Given the description of an element on the screen output the (x, y) to click on. 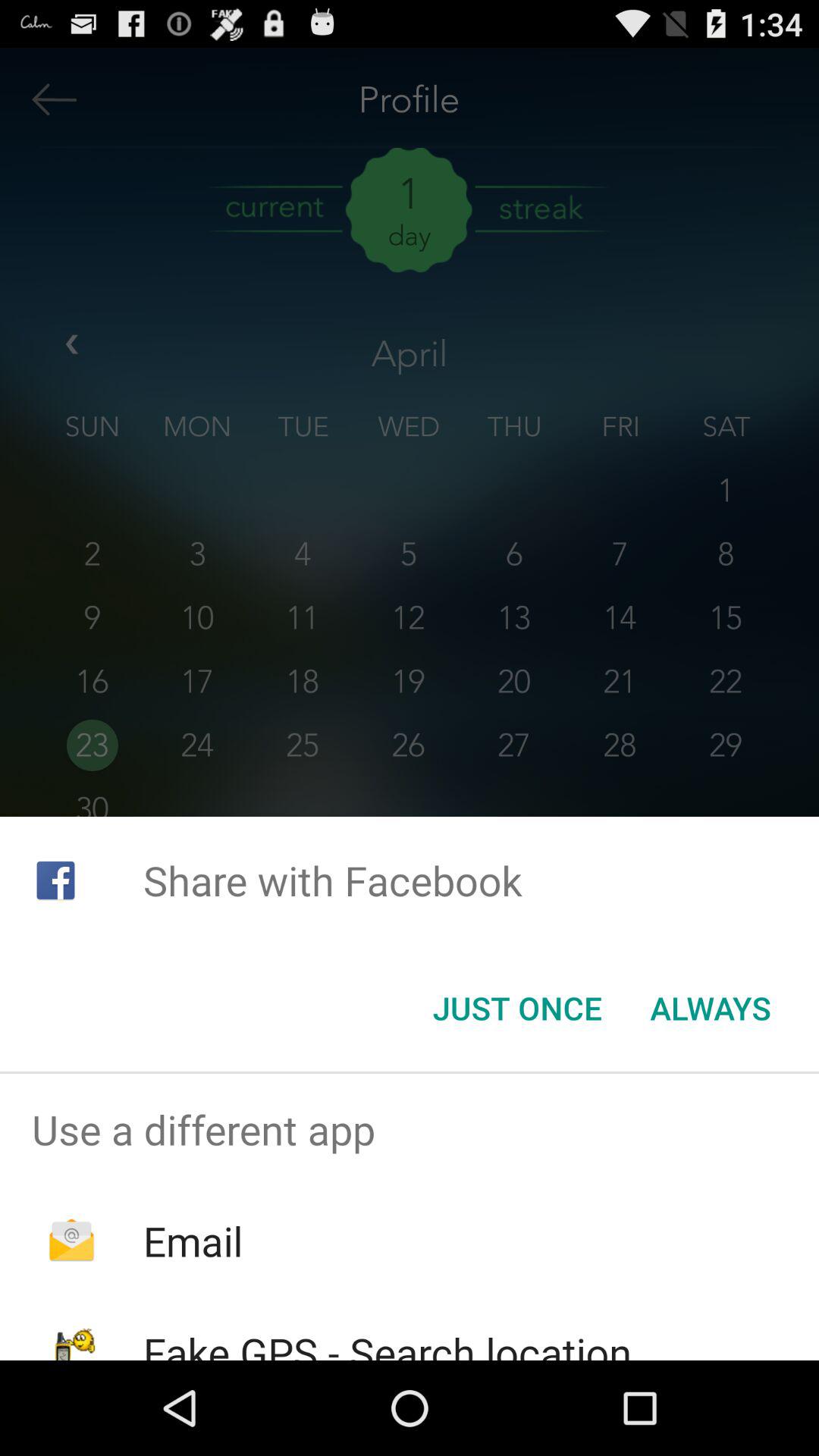
turn on item below the use a different item (192, 1240)
